Given the description of an element on the screen output the (x, y) to click on. 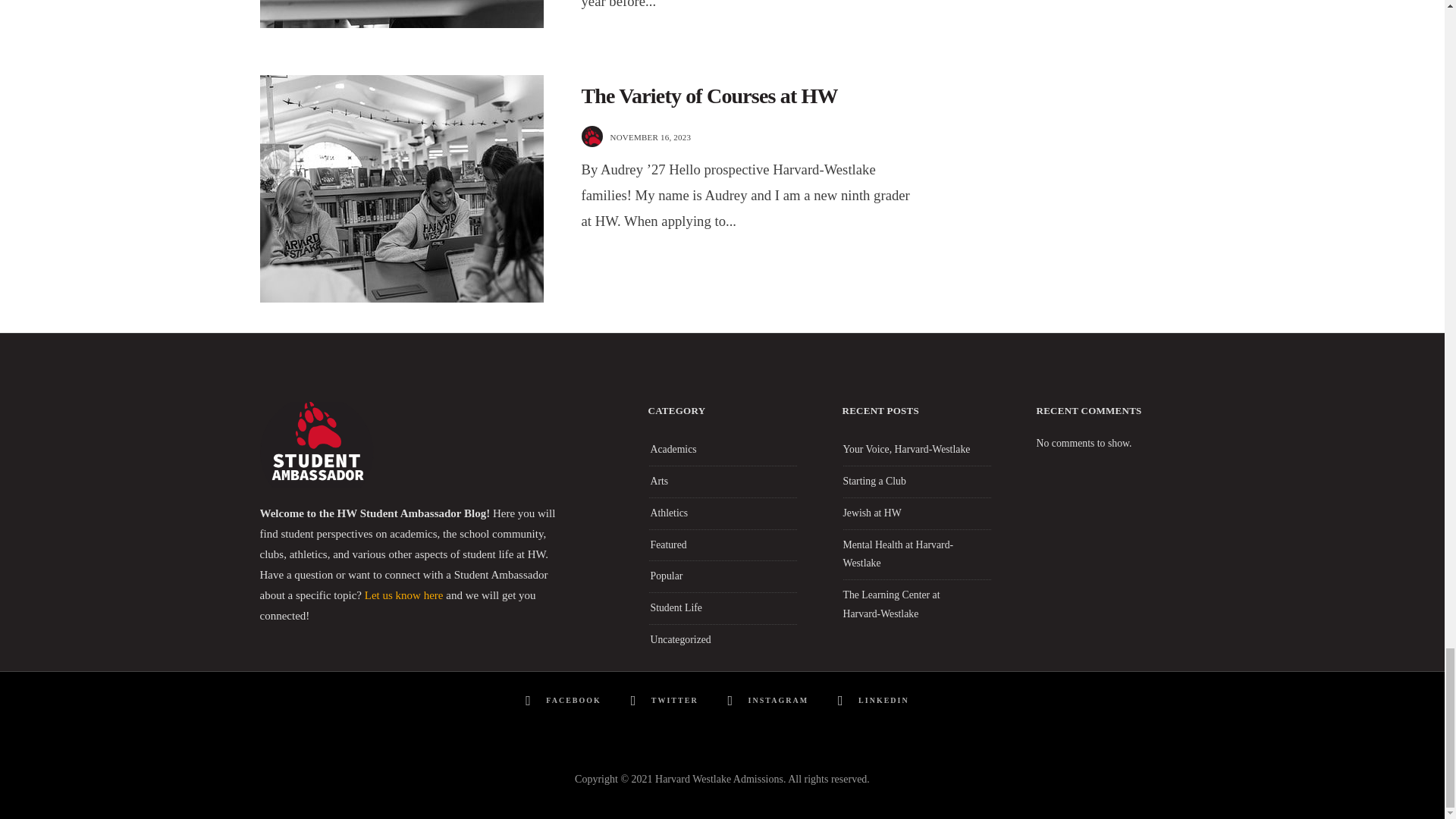
LinkedIn (876, 700)
Instagram (770, 700)
The Variety of Courses at HW (708, 96)
Twitter (667, 700)
Facebook (565, 700)
